Given the description of an element on the screen output the (x, y) to click on. 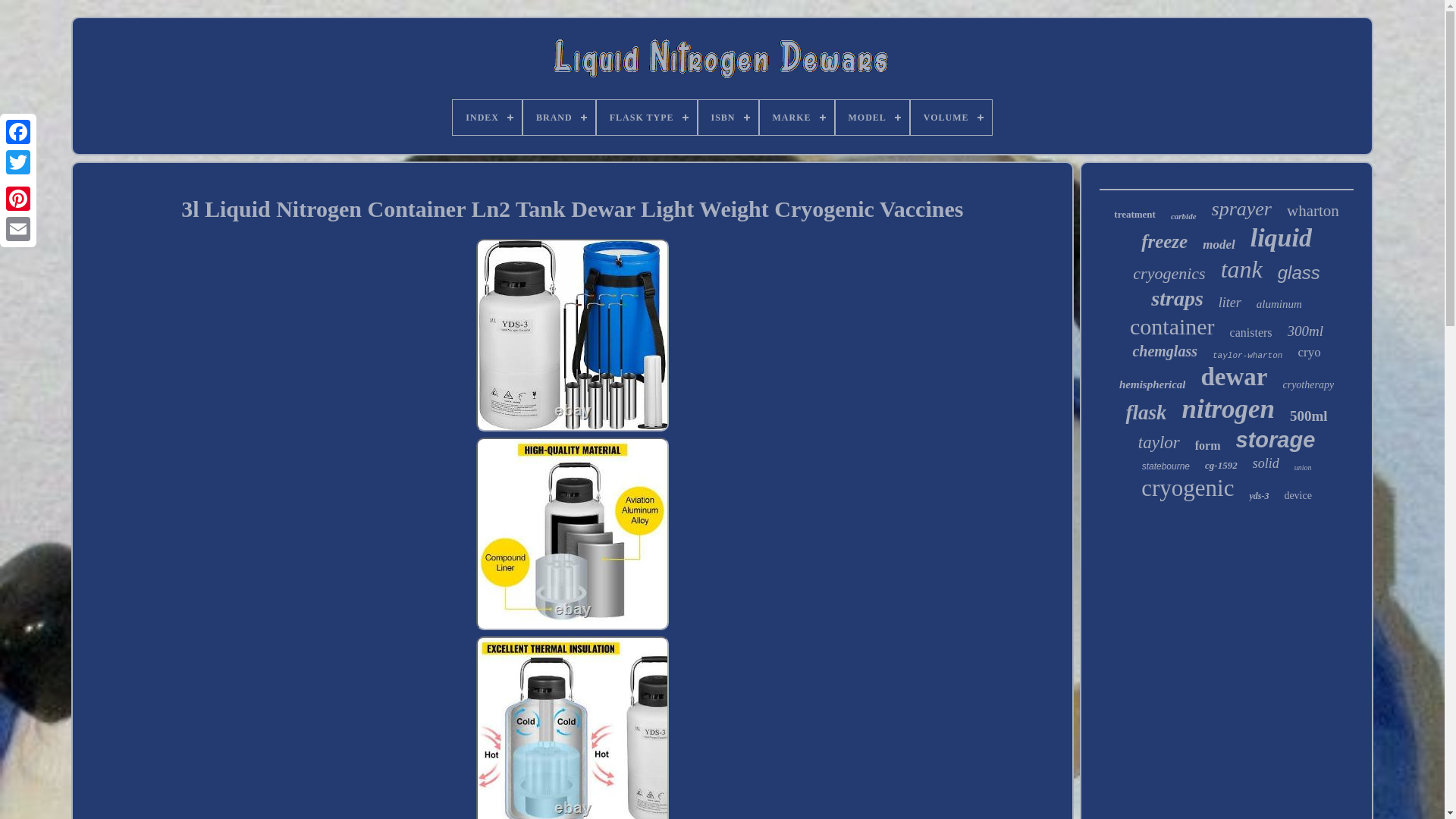
Facebook (17, 132)
ISBN (727, 117)
FLASK TYPE (646, 117)
INDEX (486, 117)
BRAND (558, 117)
